Given the description of an element on the screen output the (x, y) to click on. 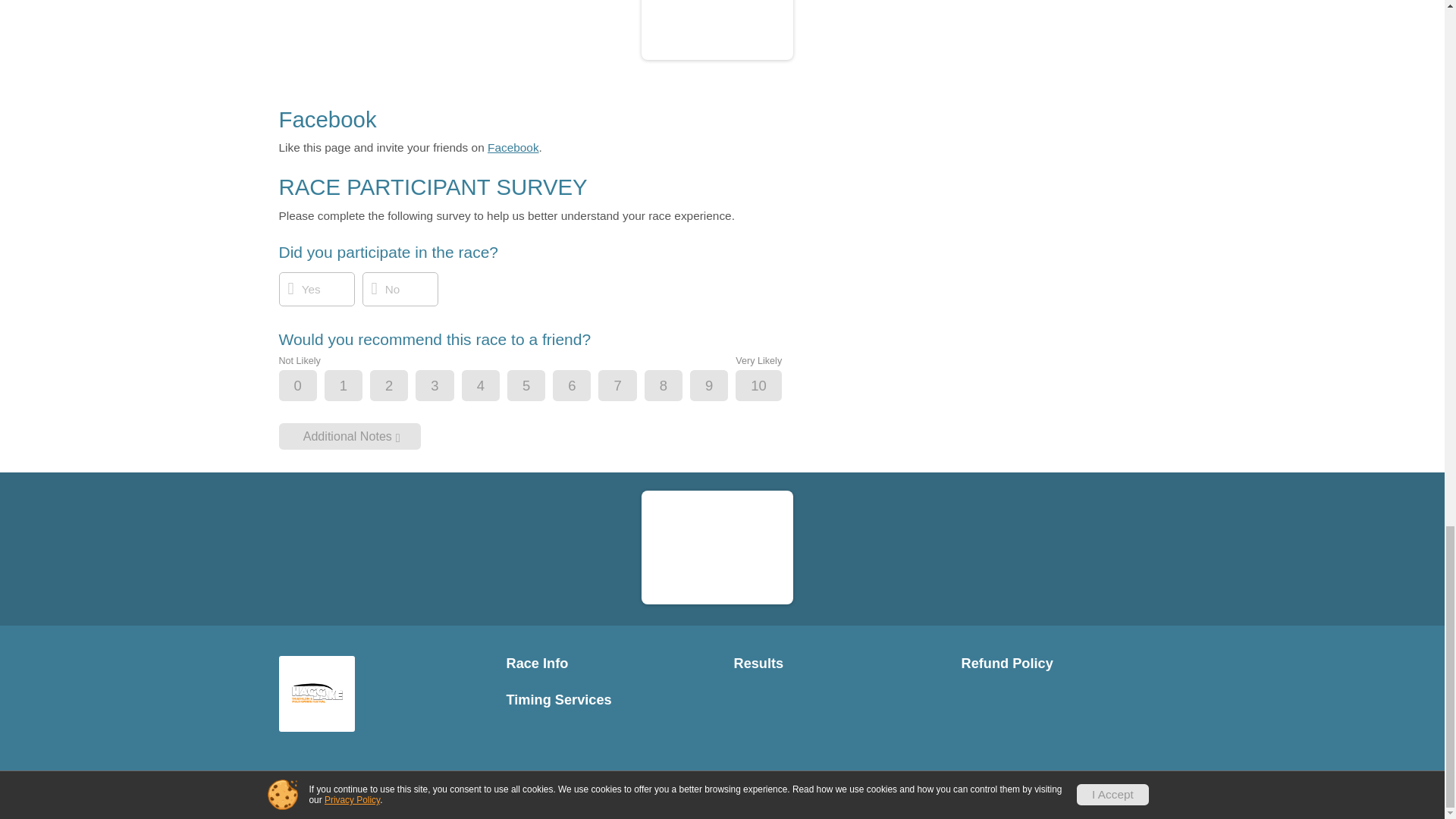
8 (675, 386)
9 (721, 386)
7 (629, 386)
10 (770, 386)
6 (584, 386)
2 (401, 386)
3 (447, 386)
4 (493, 386)
5 (539, 386)
0 (310, 386)
